Given the description of an element on the screen output the (x, y) to click on. 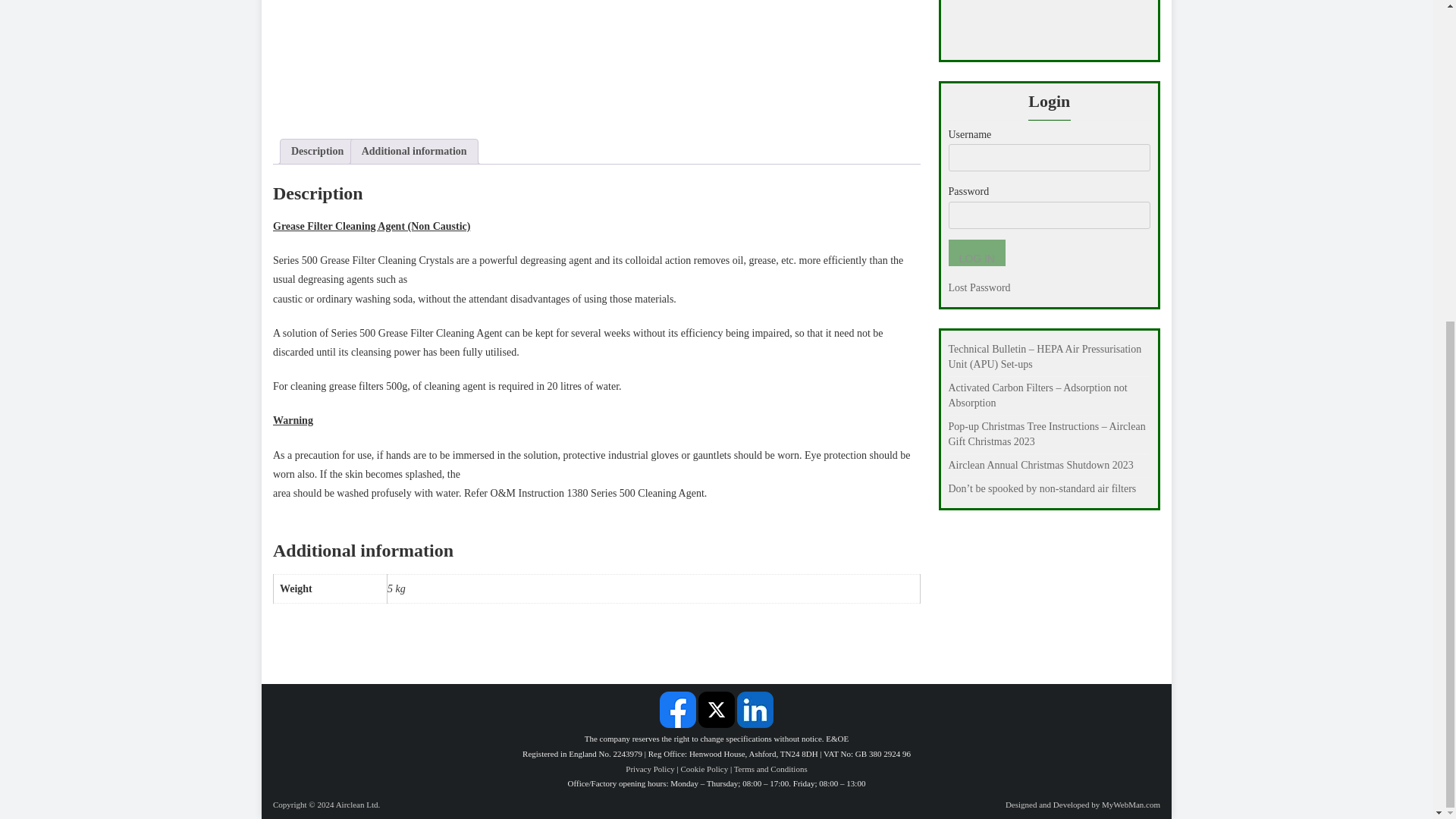
Log In (975, 252)
